Given the description of an element on the screen output the (x, y) to click on. 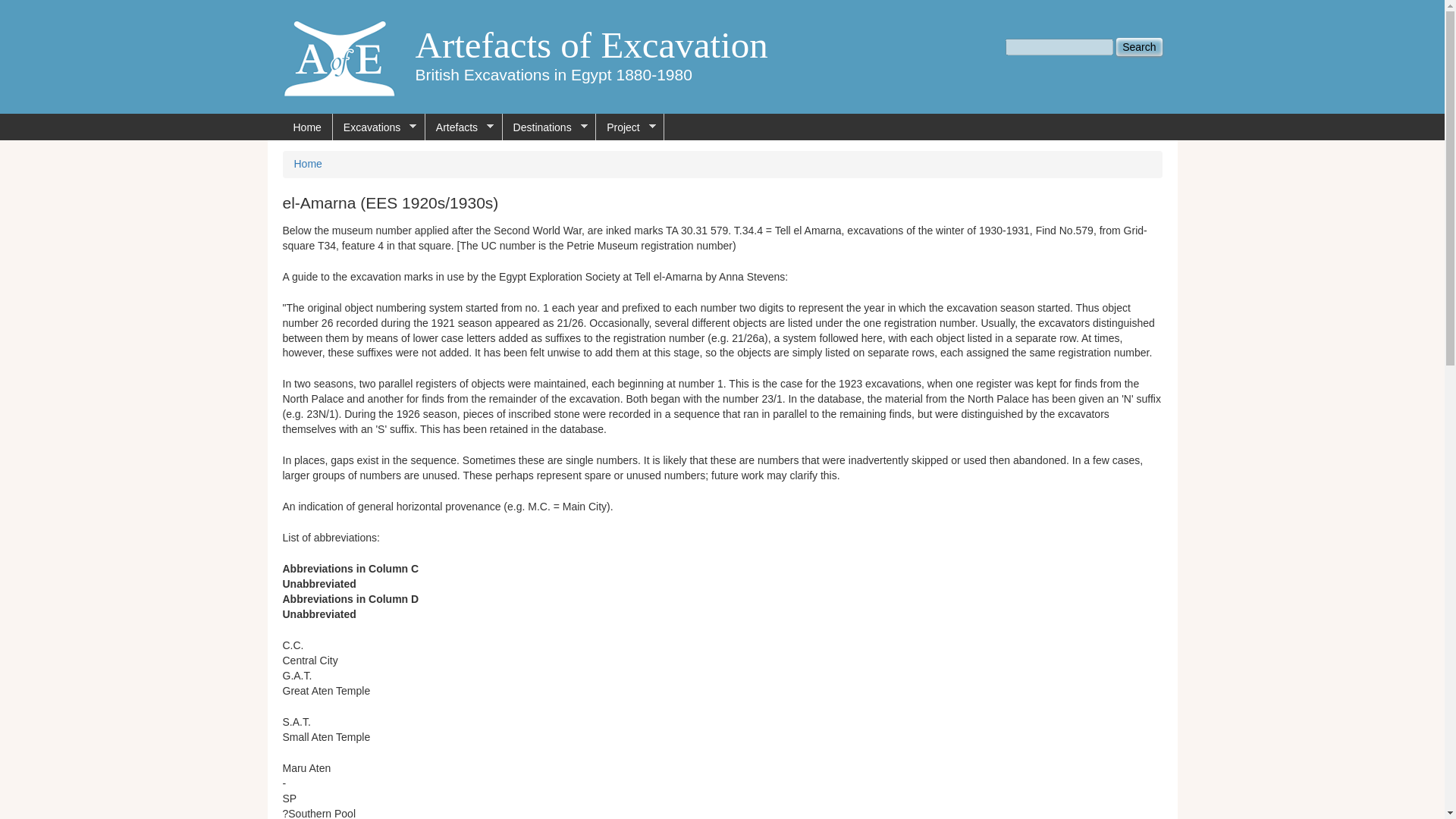
Home (339, 56)
Search (1138, 46)
Home (591, 45)
Home (307, 163)
Artefacts of Excavation (591, 45)
Search (1138, 46)
Home (306, 126)
Enter the terms you wish to search for. (1059, 46)
About the Project (629, 126)
